Given the description of an element on the screen output the (x, y) to click on. 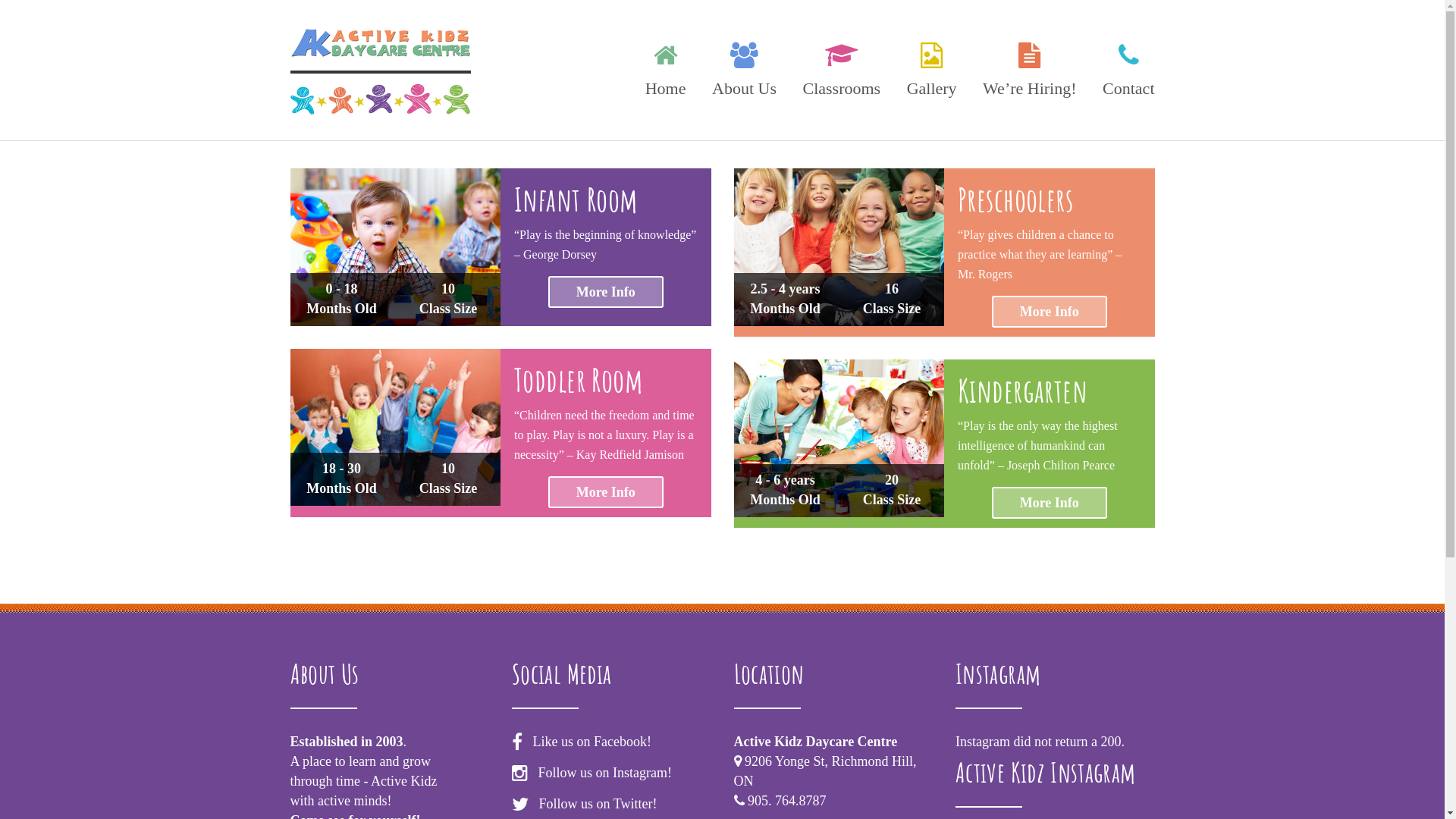
Home Element type: text (665, 67)
About Us Element type: text (743, 67)
More Info Element type: text (1049, 311)
  Follow us on Instagram! Element type: text (600, 772)
More Info Element type: text (1049, 502)
Gallery Element type: text (931, 67)
  Follow us on Twitter! Element type: text (594, 803)
Classrooms Element type: text (840, 67)
Contact Element type: text (1122, 67)
  Like us on Facebook! Element type: text (588, 741)
More Info Element type: text (605, 291)
More Info Element type: text (605, 492)
